Given the description of an element on the screen output the (x, y) to click on. 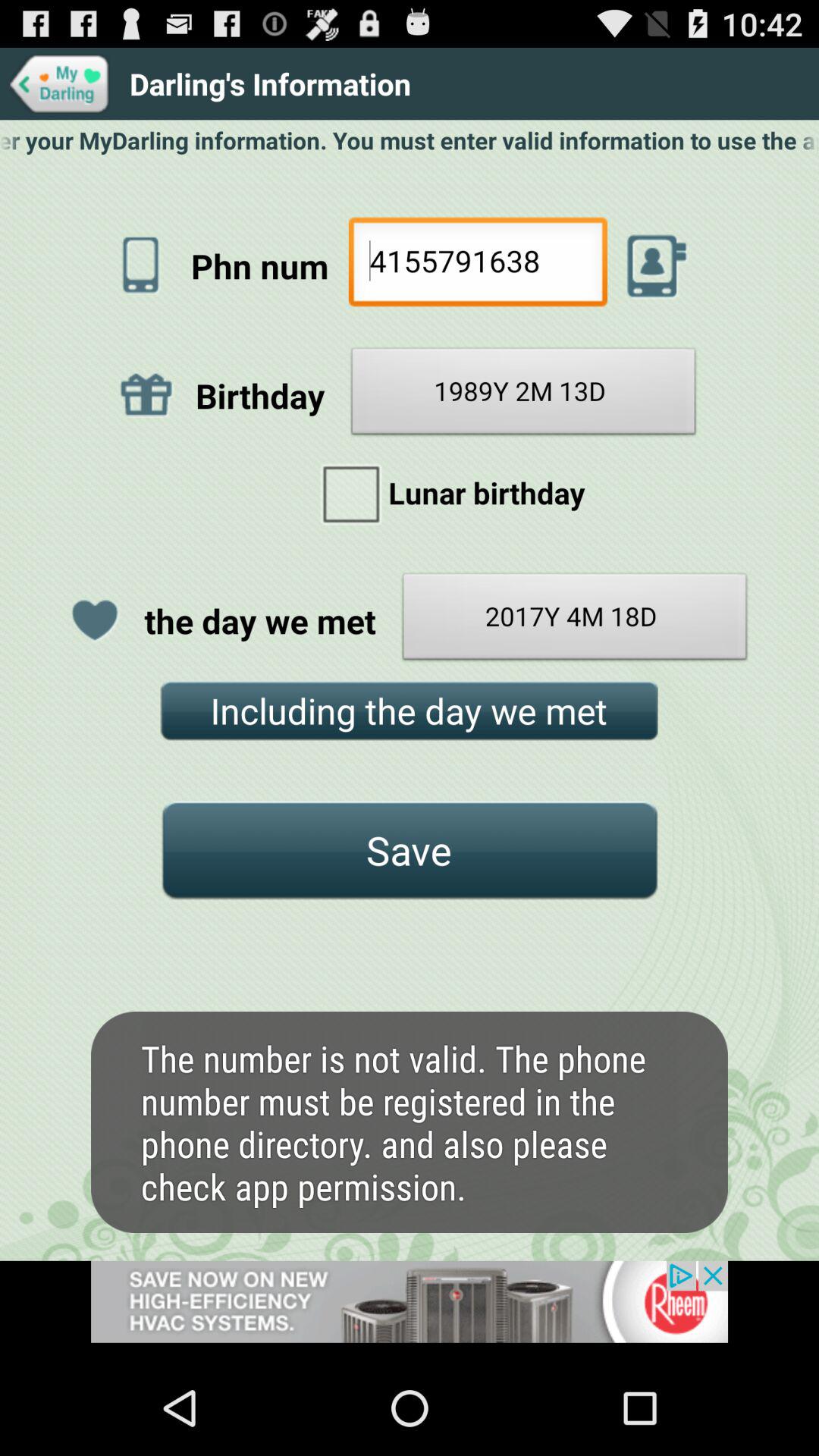
select advertisement for rheem (409, 1310)
